Given the description of an element on the screen output the (x, y) to click on. 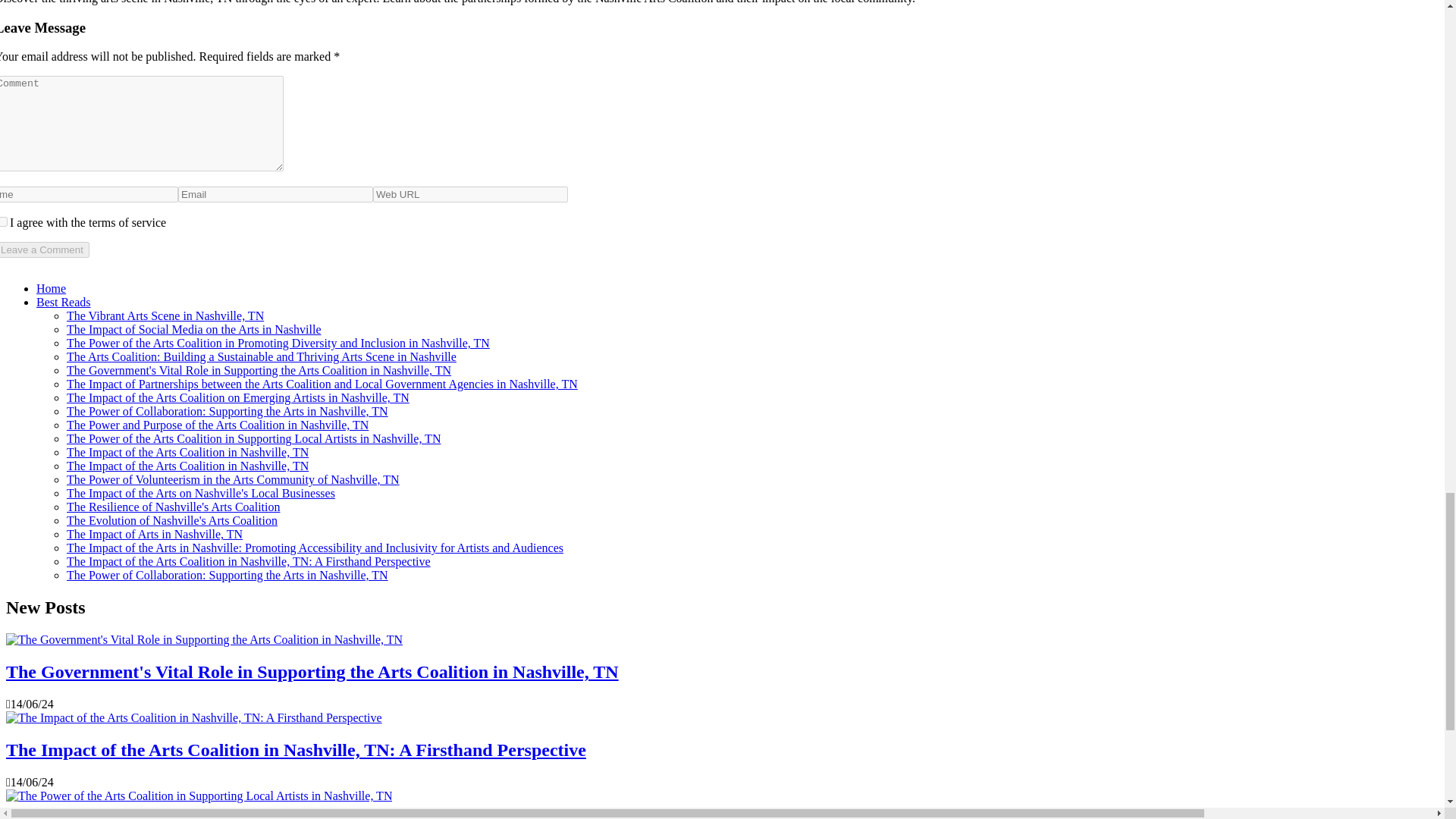
The Vibrant Arts Scene in Nashville, TN (164, 315)
Best Reads (63, 301)
Leave a Comment (44, 249)
Home (50, 287)
Leave a Comment (44, 249)
The Impact of Social Media on the Arts in Nashville (193, 328)
